Given the description of an element on the screen output the (x, y) to click on. 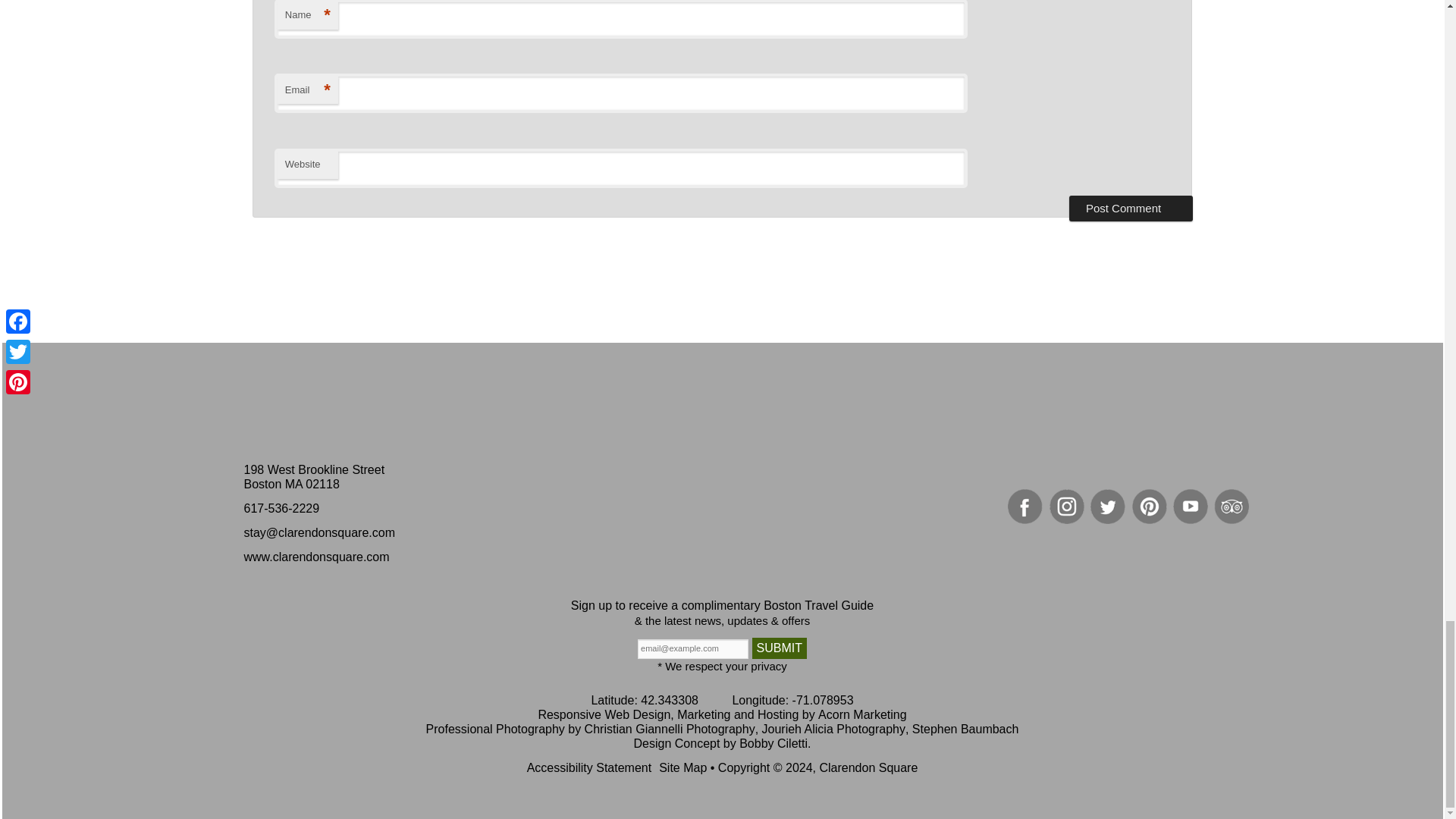
Like us on Facebook (1024, 506)
Submit (779, 648)
Pin us on Pinterest (1149, 506)
View our YouTube Channel (1190, 506)
Follow us on Twitter (1107, 506)
Read Reviews (1231, 506)
See us on Instagram (1066, 506)
Post Comment (1130, 208)
